Given the description of an element on the screen output the (x, y) to click on. 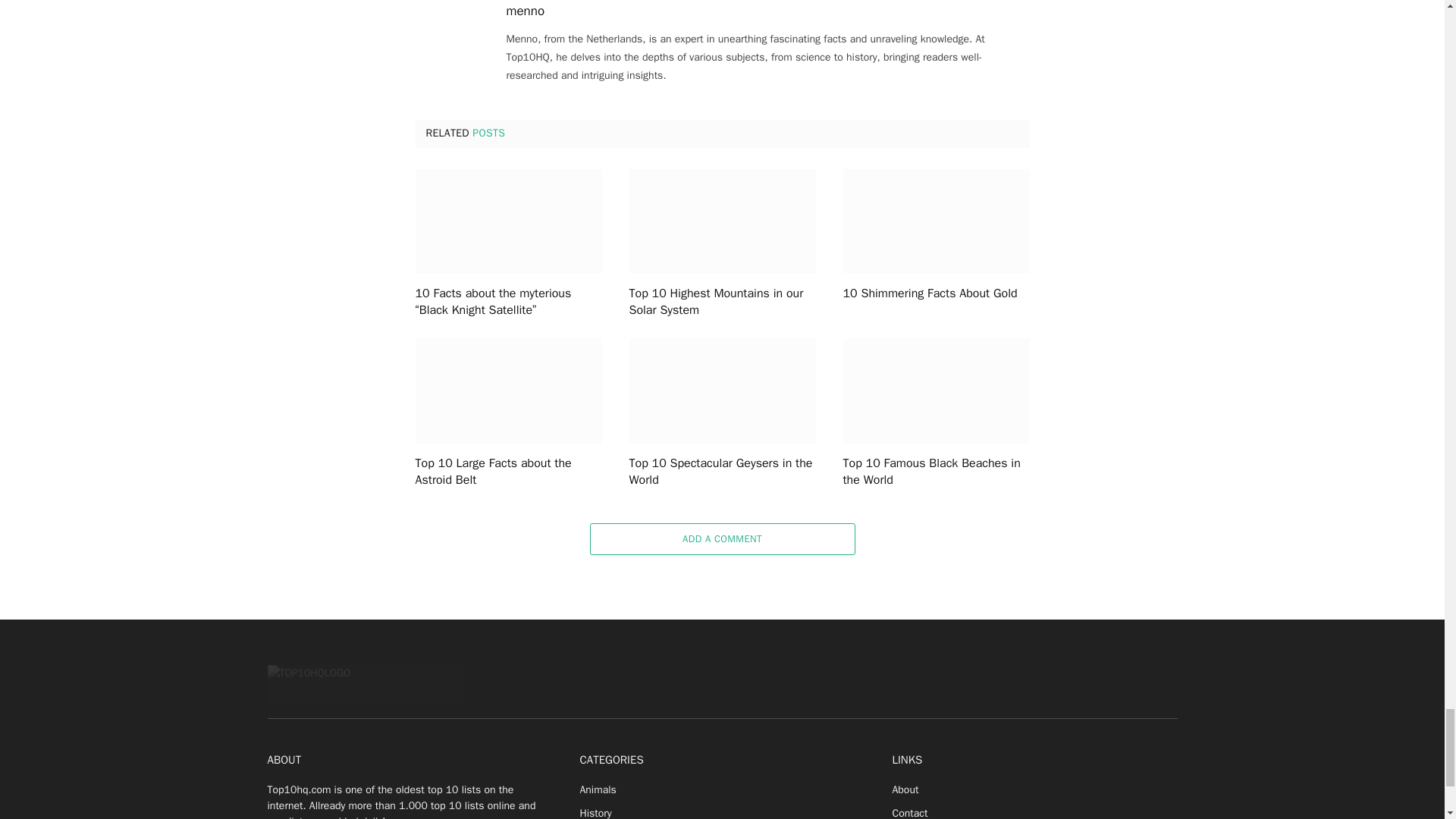
Posts by menno (525, 11)
Top 10 Highest Mountains in our Solar System (721, 220)
